Given the description of an element on the screen output the (x, y) to click on. 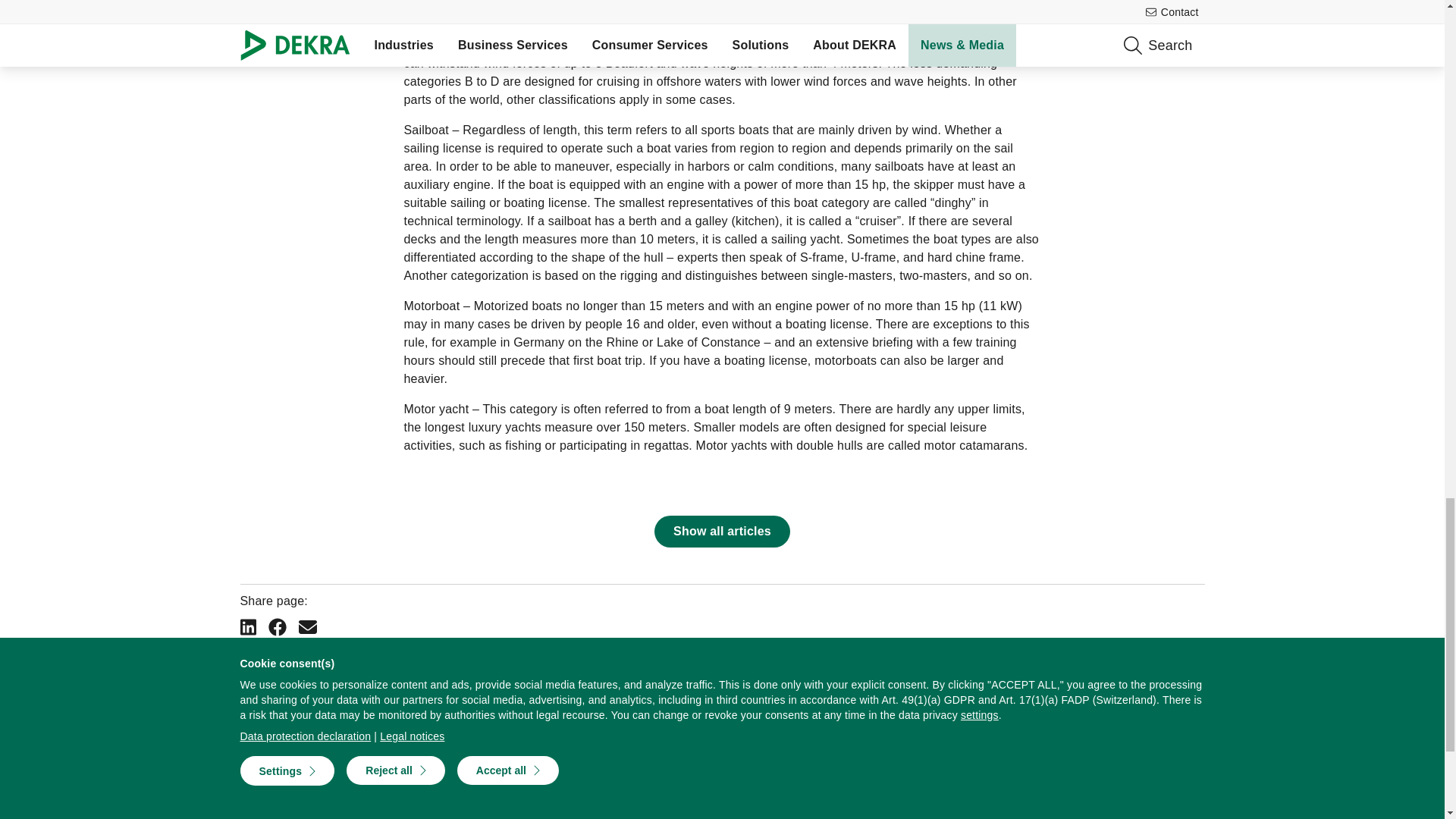
youtube (1077, 696)
x (1108, 696)
facebook (1195, 696)
